Given the description of an element on the screen output the (x, y) to click on. 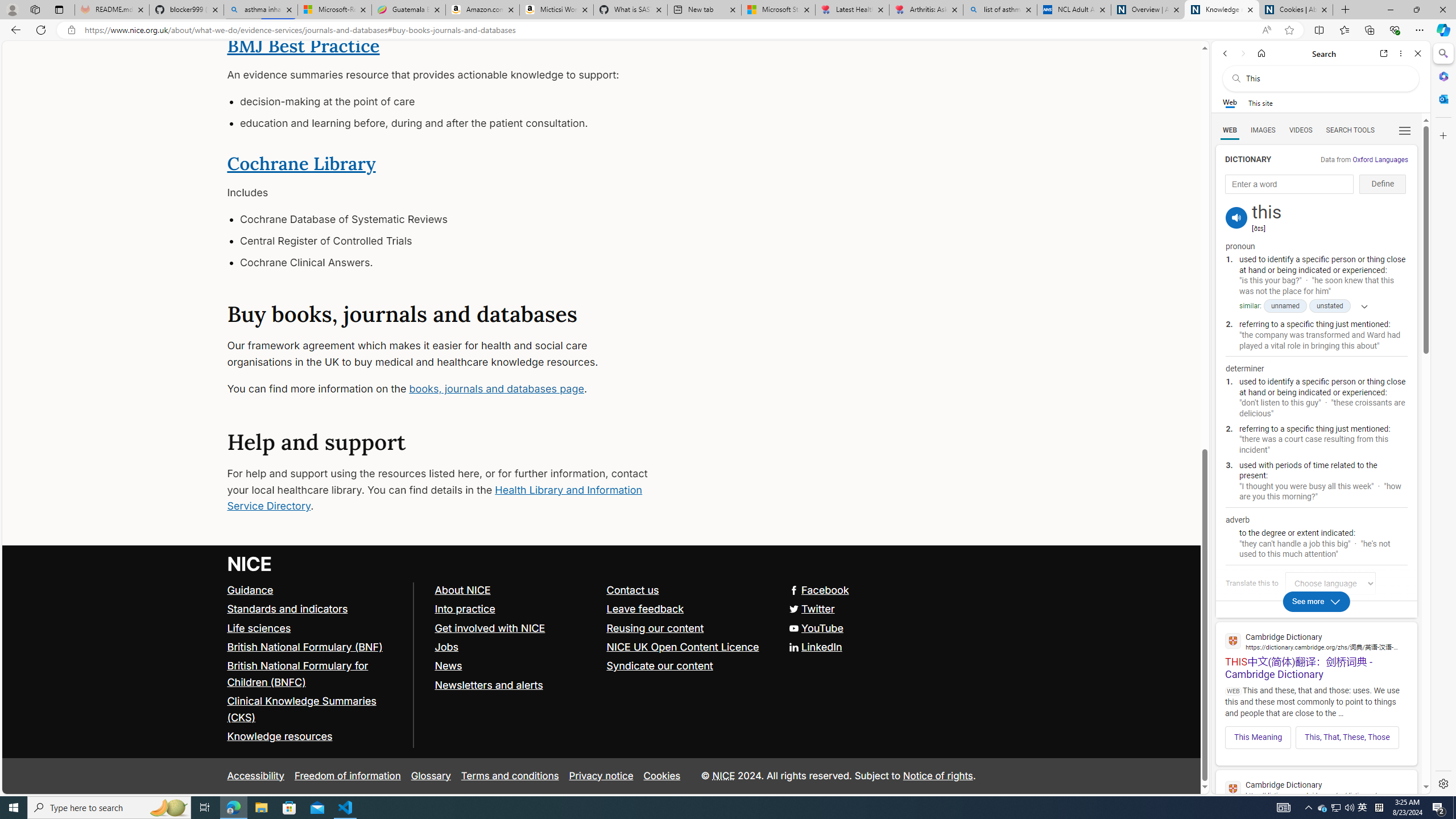
This site scope (1259, 102)
unstated (1329, 305)
British National Formulary for Children (BNFC) (297, 674)
Favorites (1344, 29)
books, journals and databases page (496, 388)
Microsoft Start (777, 9)
App bar (728, 29)
YouTube (815, 627)
Life sciences (259, 627)
